Given the description of an element on the screen output the (x, y) to click on. 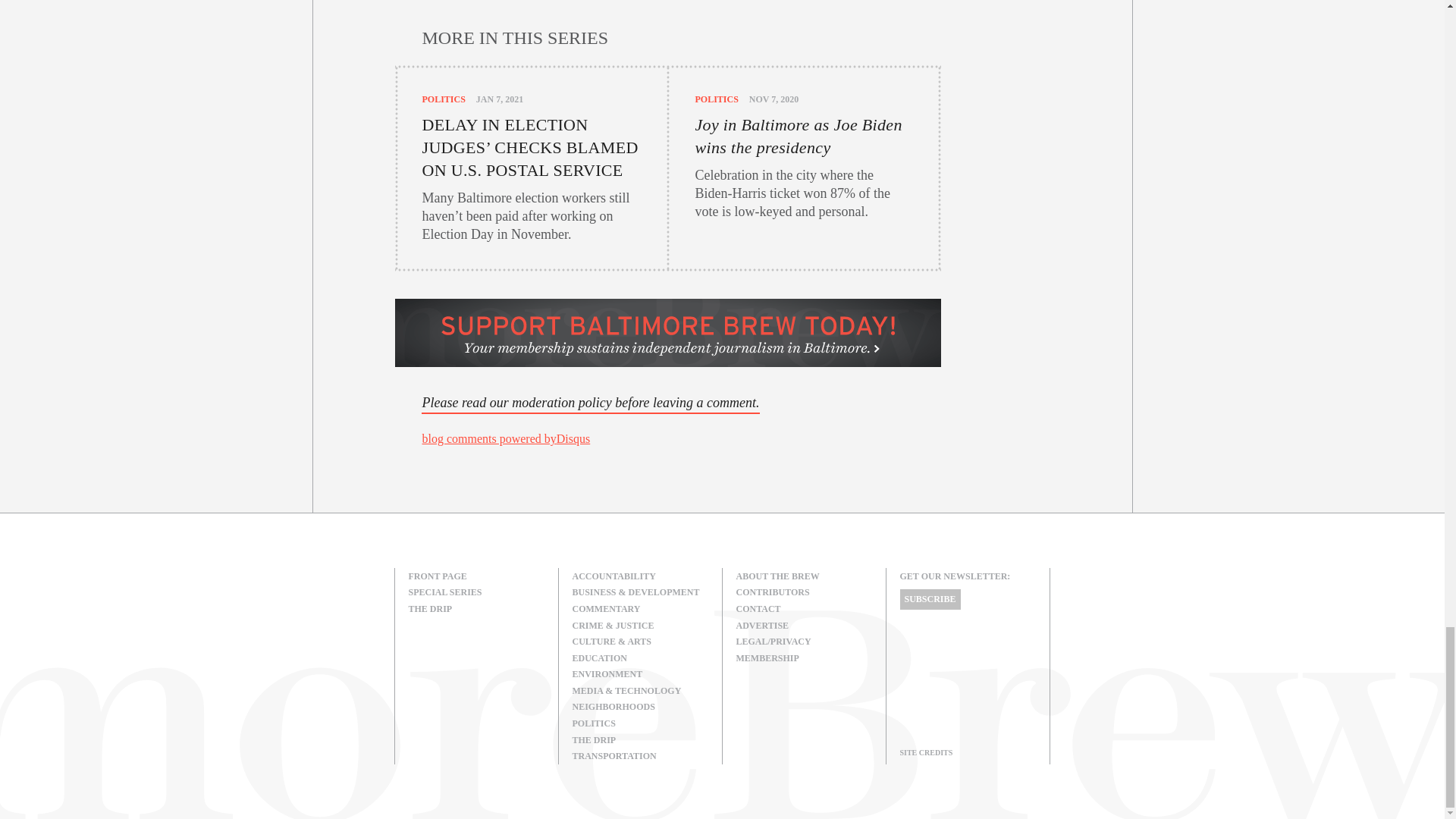
Please read our moderation policy before leaving a comment. (590, 402)
COMMENTARY (639, 609)
POLITICS (716, 99)
blog comments powered byDisqus (505, 438)
ACCOUNTABILITY (639, 576)
FRONT PAGE (475, 576)
SPECIAL SERIES (475, 592)
THE DRIP (475, 609)
POLITICS (443, 99)
